Given the description of an element on the screen output the (x, y) to click on. 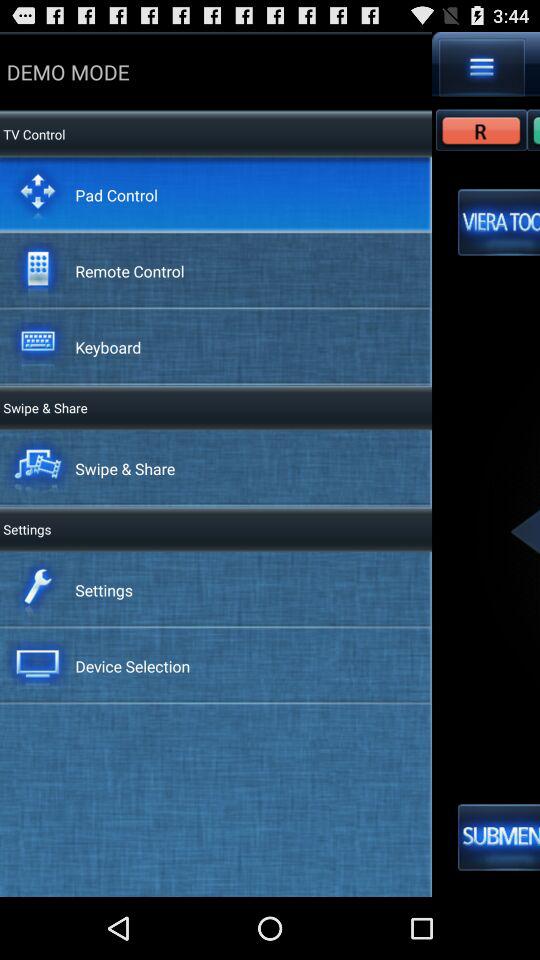
scroll to the keyboard app (108, 346)
